Given the description of an element on the screen output the (x, y) to click on. 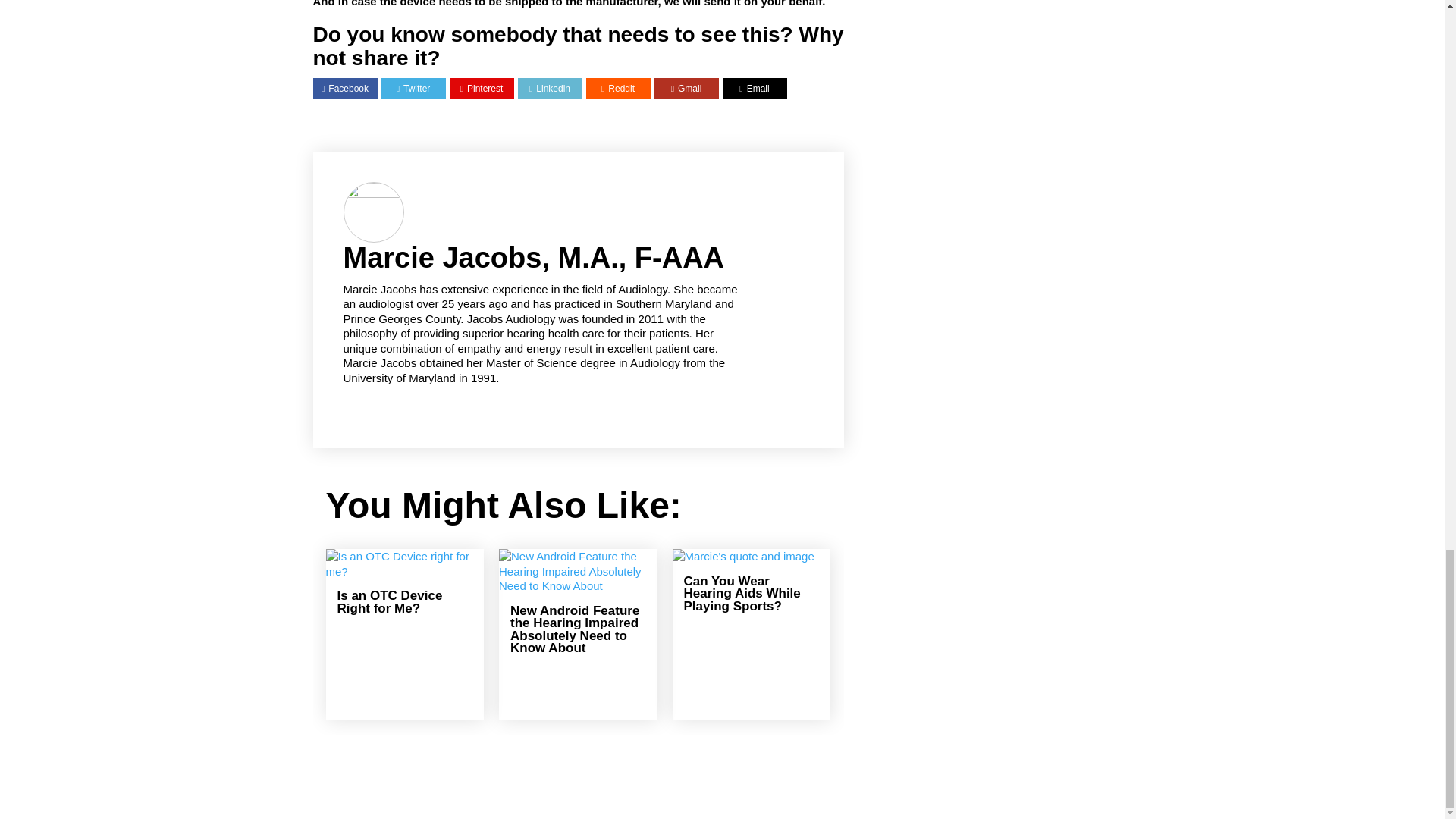
Share on Linkedin (549, 88)
Email to someone (753, 88)
Share on Pinterest (481, 88)
Email to someone (686, 88)
Share on Facebook (344, 88)
Share on Reddit (617, 88)
Share on Twitter (413, 88)
